Given the description of an element on the screen output the (x, y) to click on. 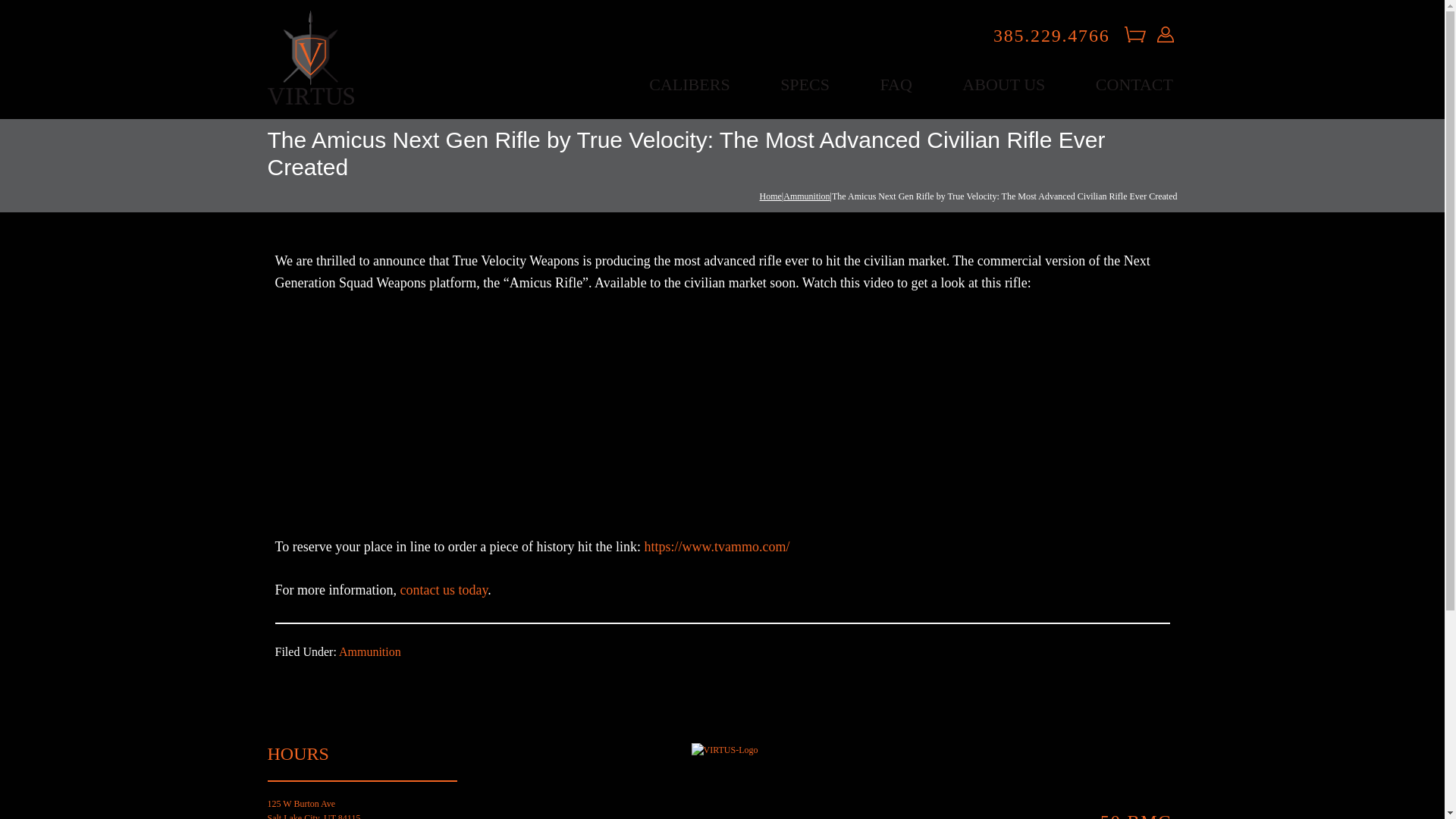
.50 BMG (1133, 815)
FAQ (895, 84)
CALIBERS (689, 84)
CONTACT (1133, 84)
Ammunition (370, 651)
ABOUT US (1003, 84)
Home (770, 195)
Ammunition (806, 195)
SPECS (805, 84)
